Given the description of an element on the screen output the (x, y) to click on. 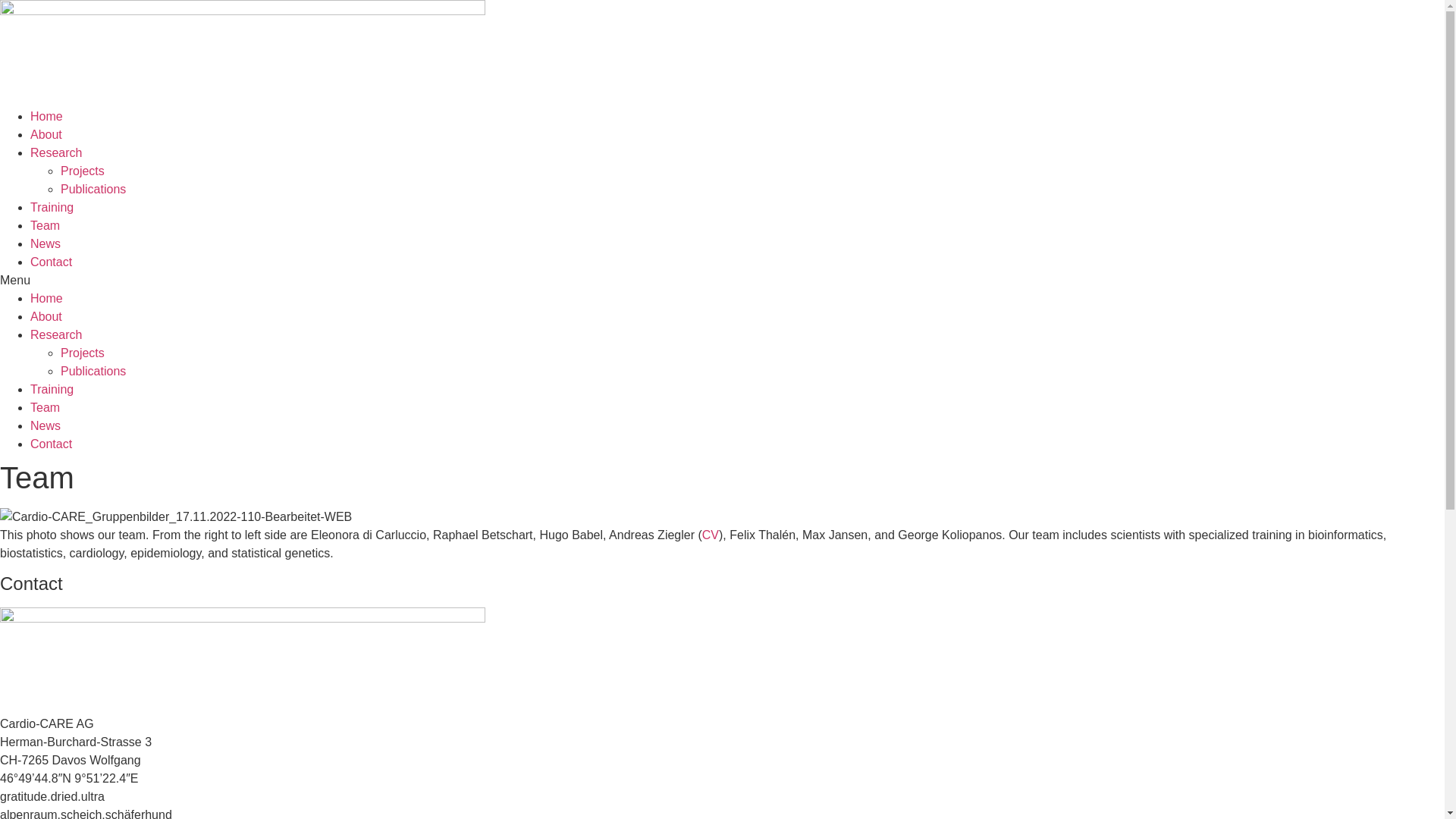
Team Element type: text (44, 407)
Research Element type: text (55, 152)
Skip to content Element type: text (0, 0)
Team Element type: text (44, 225)
Contact Element type: text (51, 261)
Publications Element type: text (92, 188)
CV Element type: text (710, 534)
Research Element type: text (55, 334)
Training Element type: text (51, 206)
Projects Element type: text (82, 170)
News Element type: text (45, 243)
Publications Element type: text (92, 370)
About Element type: text (46, 316)
News Element type: text (45, 425)
Home Element type: text (46, 297)
Contact Element type: text (51, 443)
Home Element type: text (46, 115)
About Element type: text (46, 134)
Projects Element type: text (82, 352)
Training Element type: text (51, 388)
